Given the description of an element on the screen output the (x, y) to click on. 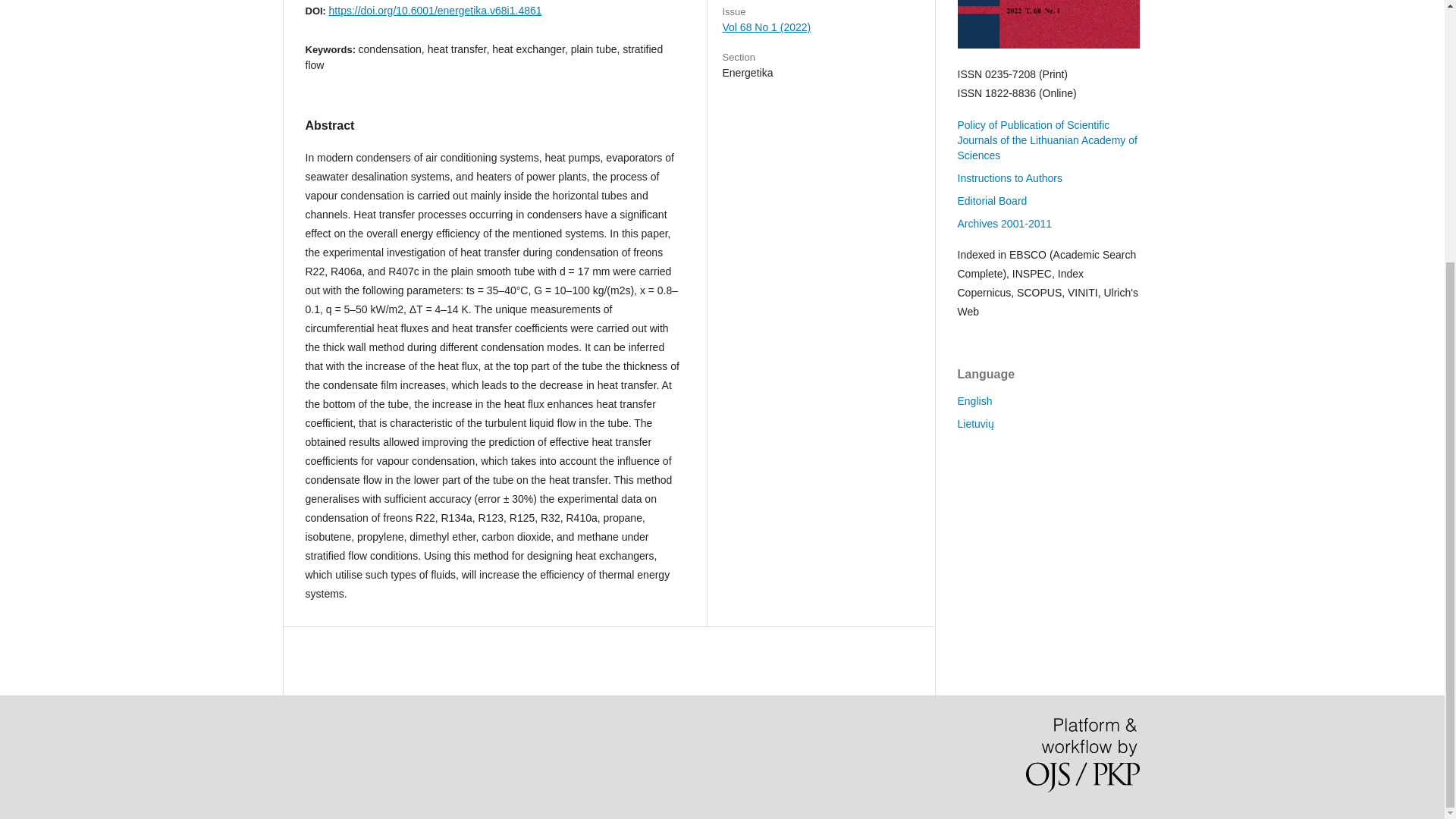
Instructions to Authors (1009, 177)
Editorial Board (991, 200)
English (973, 400)
Archives 2001-2011 (1003, 223)
